Given the description of an element on the screen output the (x, y) to click on. 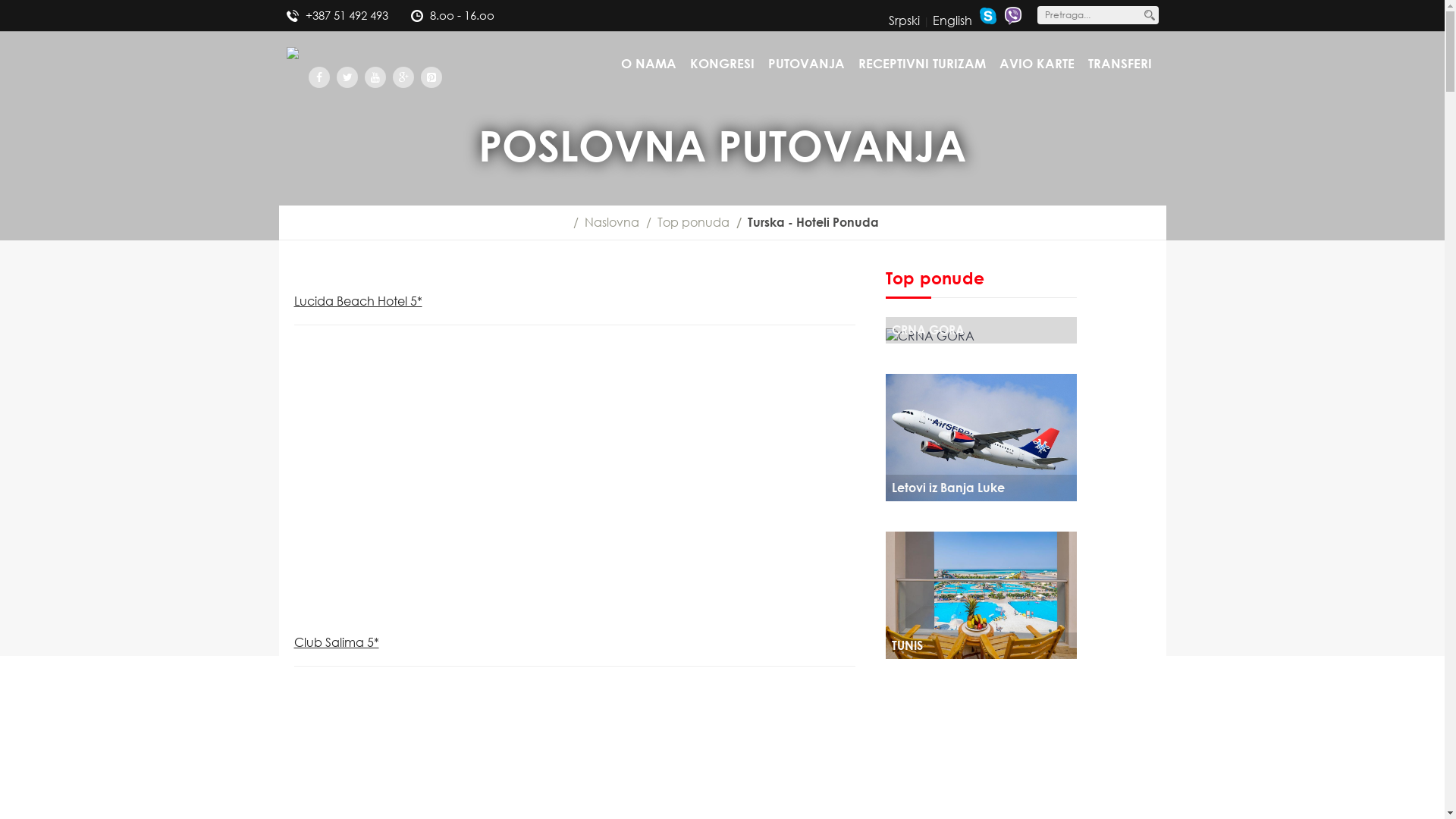
Top ponuda Element type: text (692, 221)
Srpski Element type: text (903, 20)
O NAMA Element type: text (647, 65)
PUTOVANJA Element type: text (805, 65)
Lucida Beach Hotel 5* Element type: text (358, 300)
English Element type: text (952, 20)
AVIO KARTE Element type: text (1036, 65)
TUNIS
  Element type: text (981, 594)
Letovi iz Banja Luke
  Element type: text (981, 436)
KONGRESI Element type: text (722, 65)
TRANSFERI Element type: text (1119, 65)
Naslovna Element type: text (610, 221)
Club Salima 5* Element type: text (336, 641)
RECEPTIVNI TURIZAM Element type: text (921, 65)
CRNA GORA
  Element type: text (981, 334)
